Given the description of an element on the screen output the (x, y) to click on. 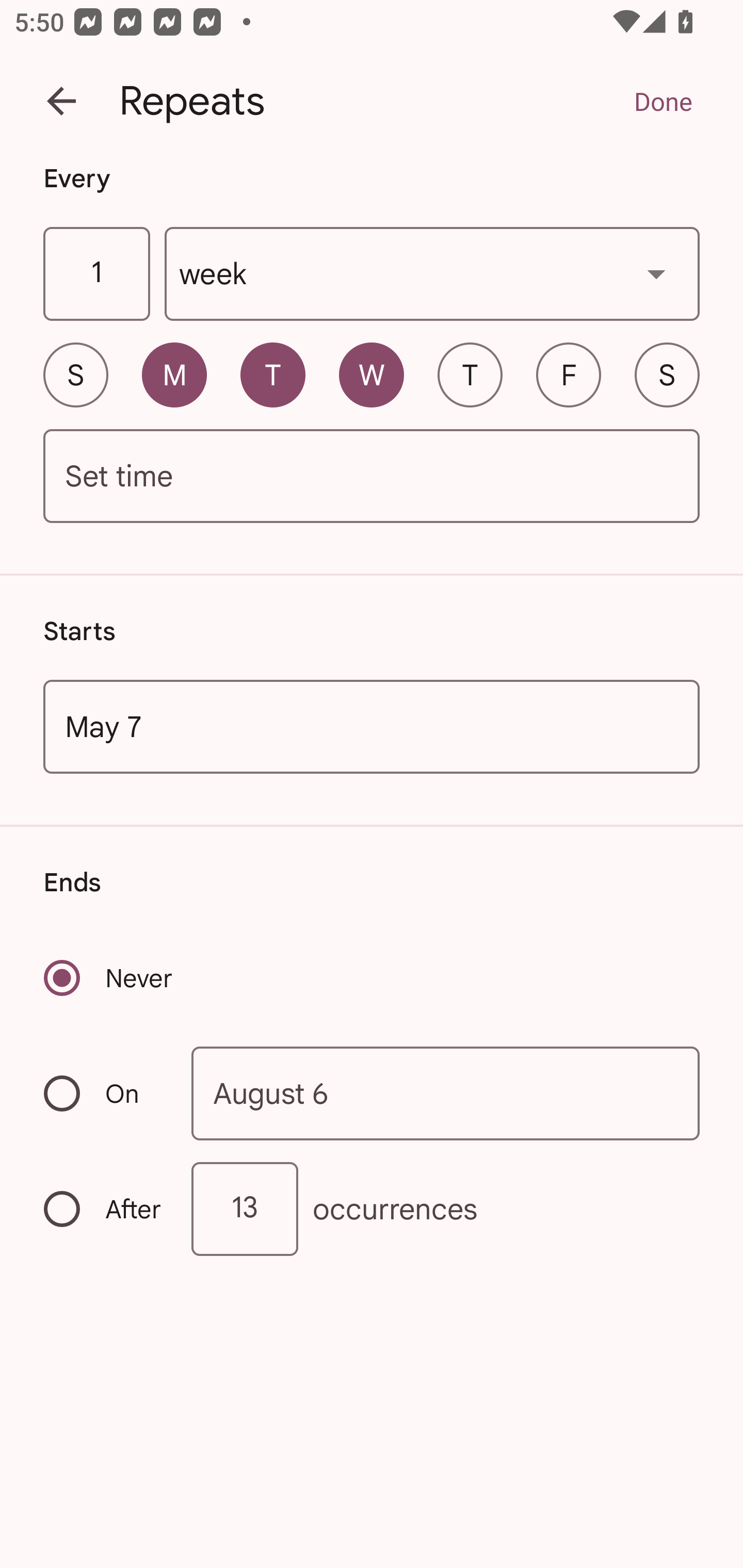
Back (61, 101)
Done (663, 101)
1 (96, 274)
week (431, 274)
Show dropdown menu (655, 273)
S Sunday (75, 374)
M Monday, selected (173, 374)
T Tuesday, selected (272, 374)
W Wednesday, selected (371, 374)
T Thursday (469, 374)
F Friday (568, 374)
S Saturday (666, 374)
Set time (371, 476)
May 7 (371, 726)
Never Recurrence never ends (109, 978)
August 6 (445, 1092)
On Recurrence ends on a specific date (104, 1093)
13 (244, 1208)
